Given the description of an element on the screen output the (x, y) to click on. 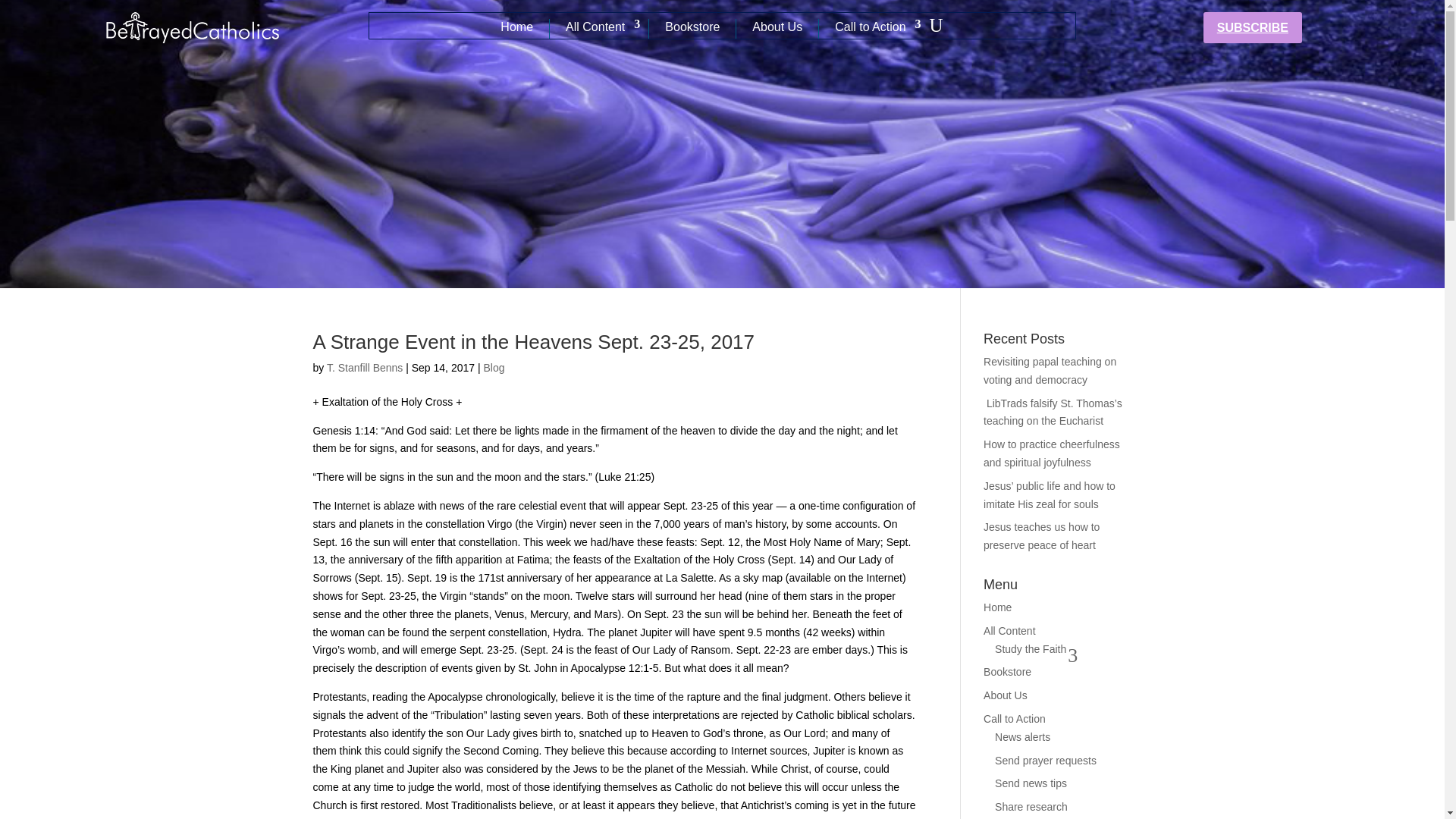
SUBSCRIBE (1252, 27)
All Content (598, 28)
Posts by T. Stanfill Benns (364, 367)
logo2 - white (191, 28)
Bookstore (692, 28)
Home (516, 28)
Call to Action (873, 28)
About Us (776, 28)
